Given the description of an element on the screen output the (x, y) to click on. 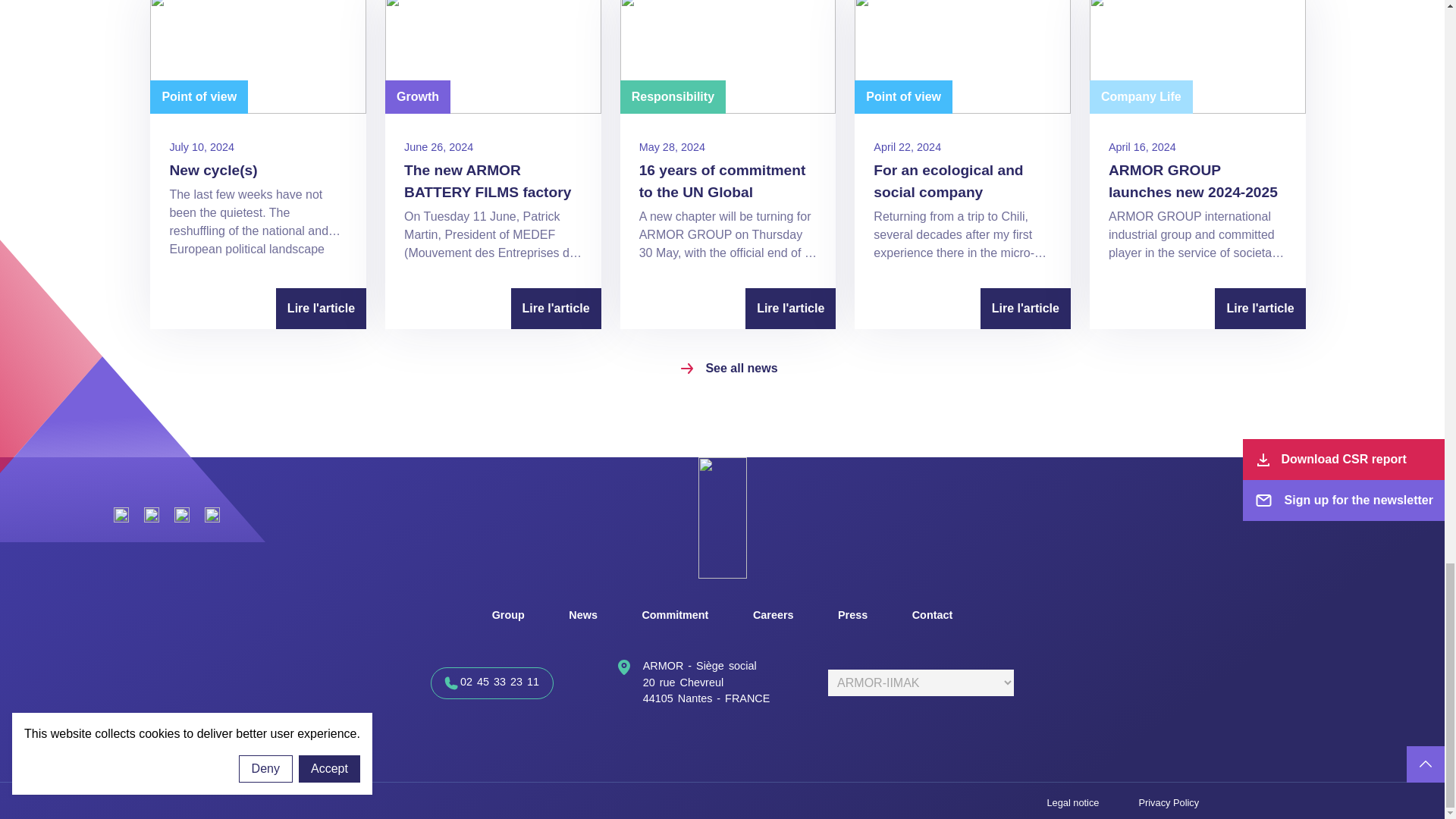
Lire l'article (556, 308)
Lire l'article (321, 308)
Lire l'article (1259, 308)
Lire l'article (790, 308)
Lire l'article (1024, 308)
Sign up for the newsletter (1343, 499)
Download CSR report (1343, 458)
See all news (727, 368)
